Given the description of an element on the screen output the (x, y) to click on. 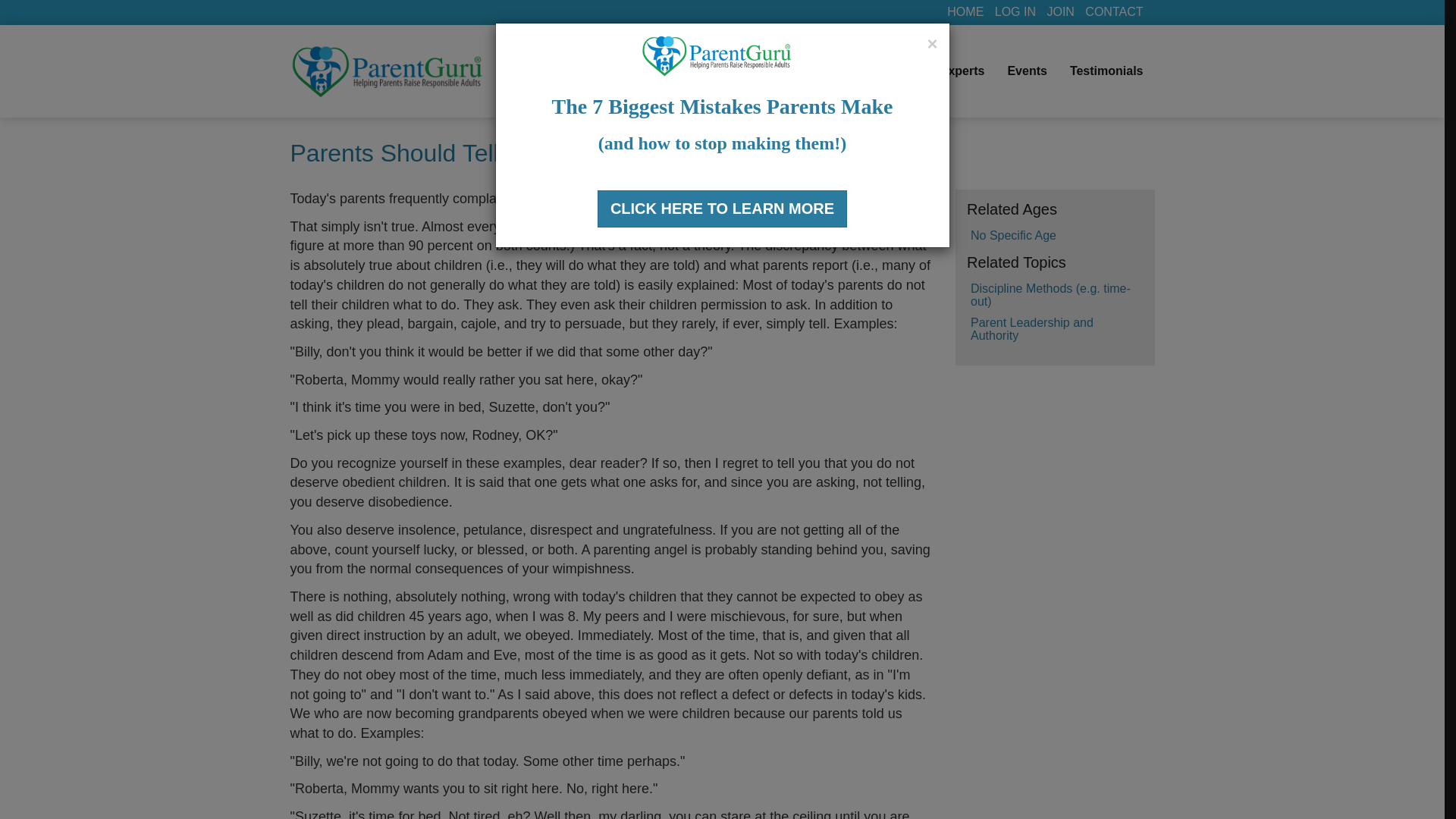
Our Experts (949, 70)
Ask a Question (765, 70)
Browse (628, 70)
JOIN (1060, 11)
Parent Leadership and Authority (1032, 329)
Testimonials (1106, 70)
No Specific Age (1014, 235)
CONTACT (1113, 11)
LOG IN (1014, 11)
HOME (965, 11)
Events (1026, 70)
CLICK HERE TO LEARN MORE (721, 208)
Bookstore (862, 70)
